Given the description of an element on the screen output the (x, y) to click on. 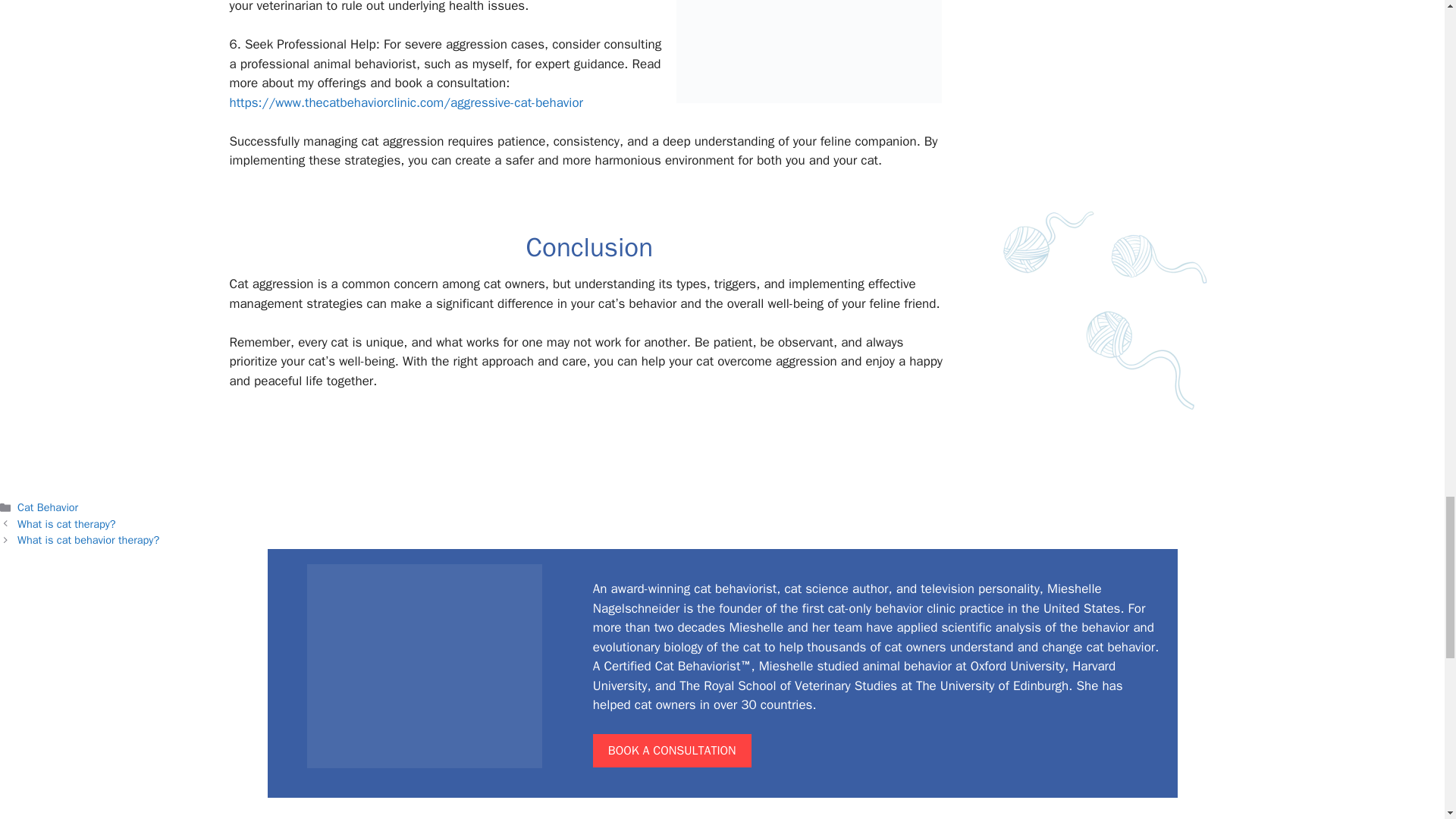
What is cat therapy? (66, 523)
Cat Behavior (47, 507)
What is cat behavior therapy? (87, 540)
BOOK A CONSULTATION (671, 750)
